Given the description of an element on the screen output the (x, y) to click on. 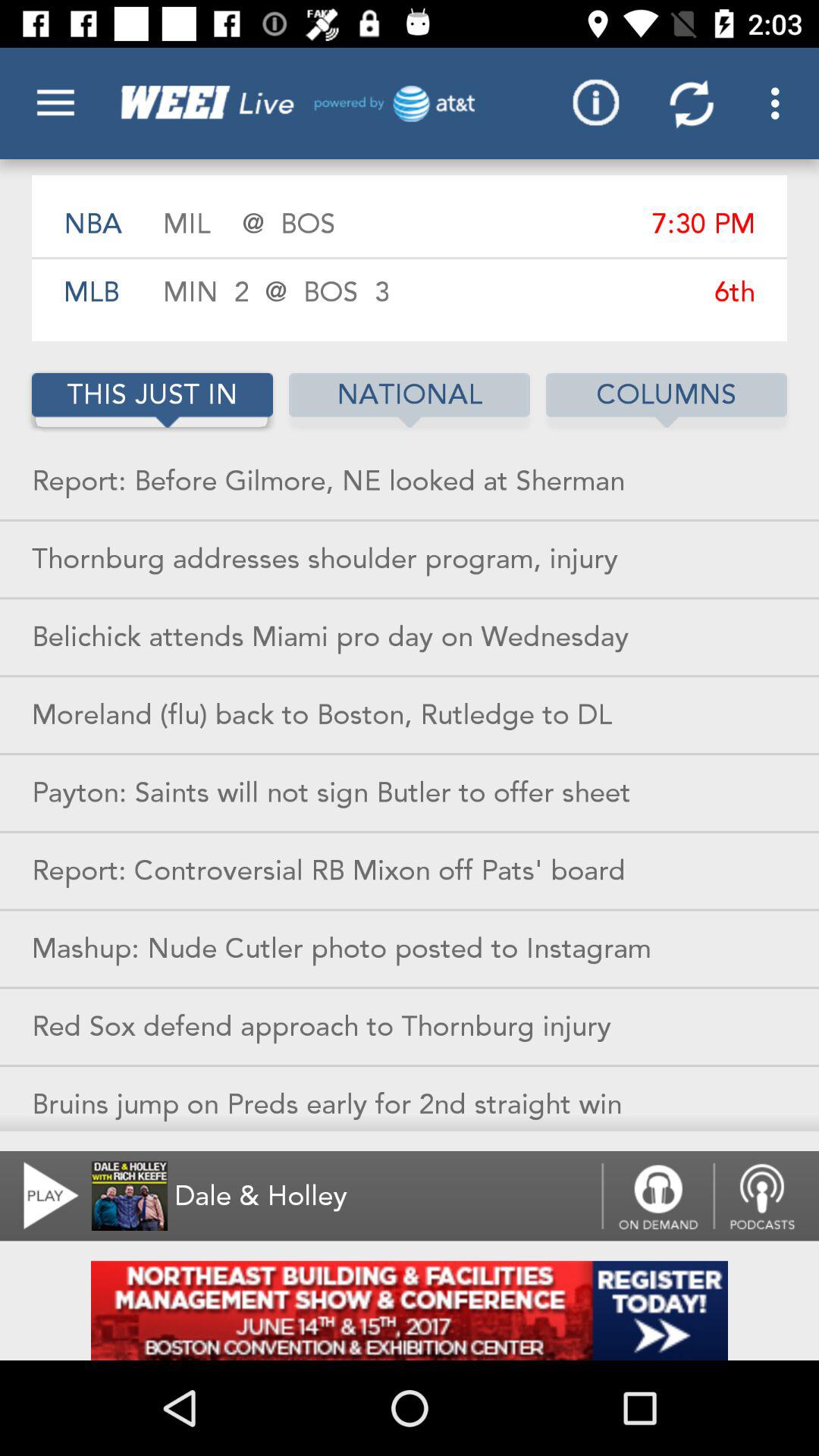
this page in add (409, 1310)
